Given the description of an element on the screen output the (x, y) to click on. 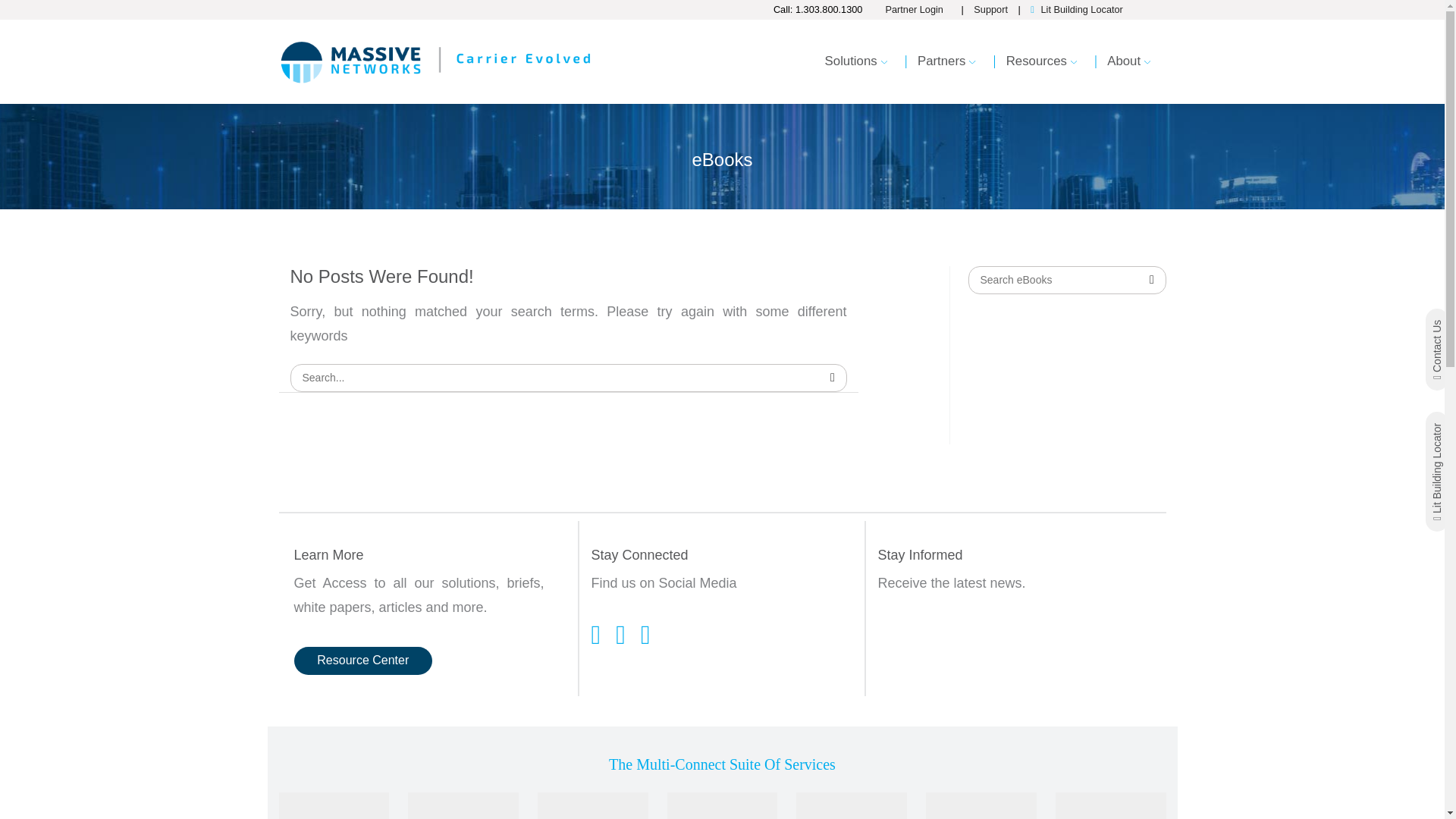
Support (990, 9)
Solutions (855, 69)
Partners (947, 69)
Lit Building Locator (1081, 9)
Partner Login (921, 9)
Resources (1041, 69)
